Given the description of an element on the screen output the (x, y) to click on. 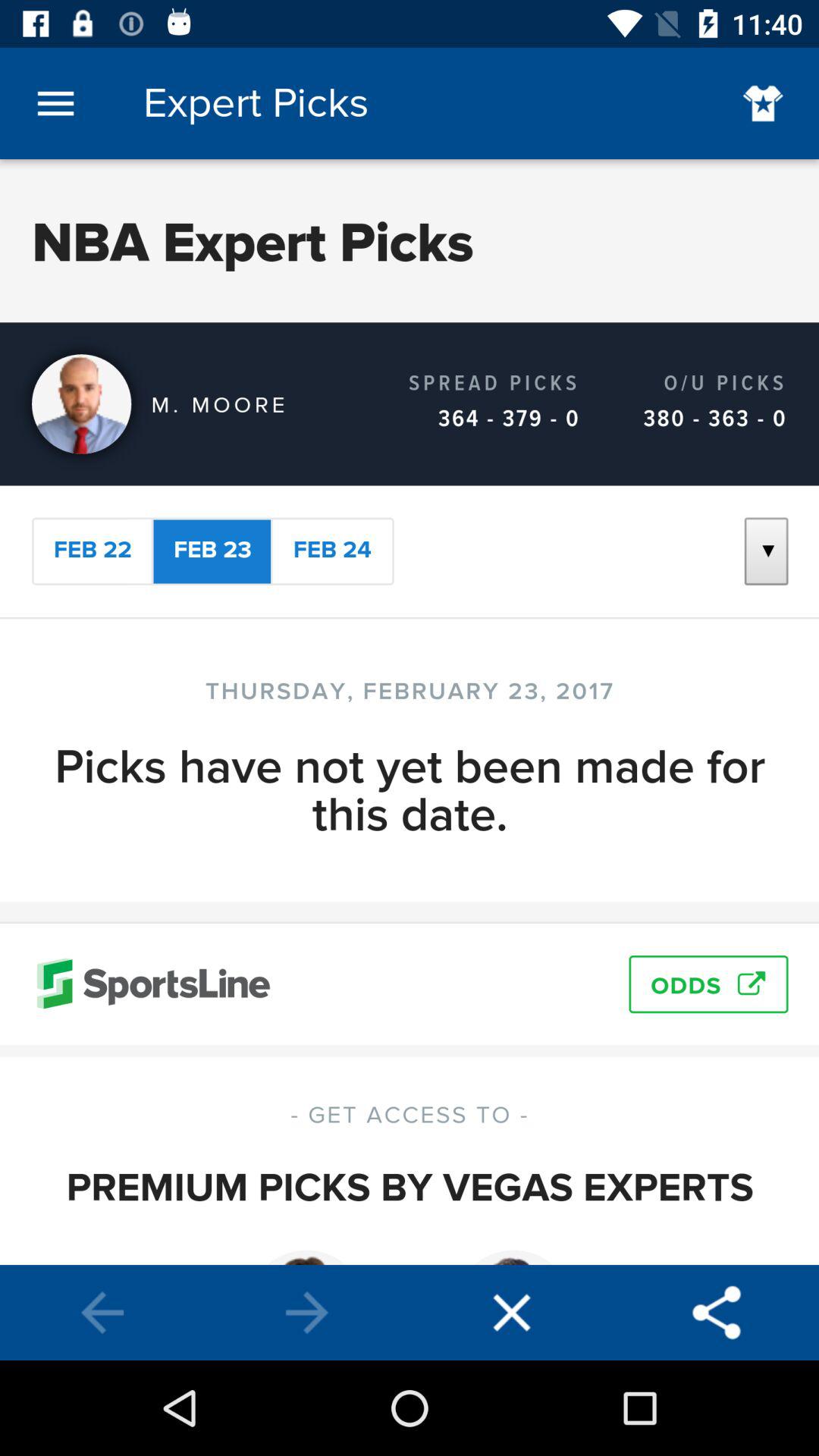
share button (716, 1312)
